Given the description of an element on the screen output the (x, y) to click on. 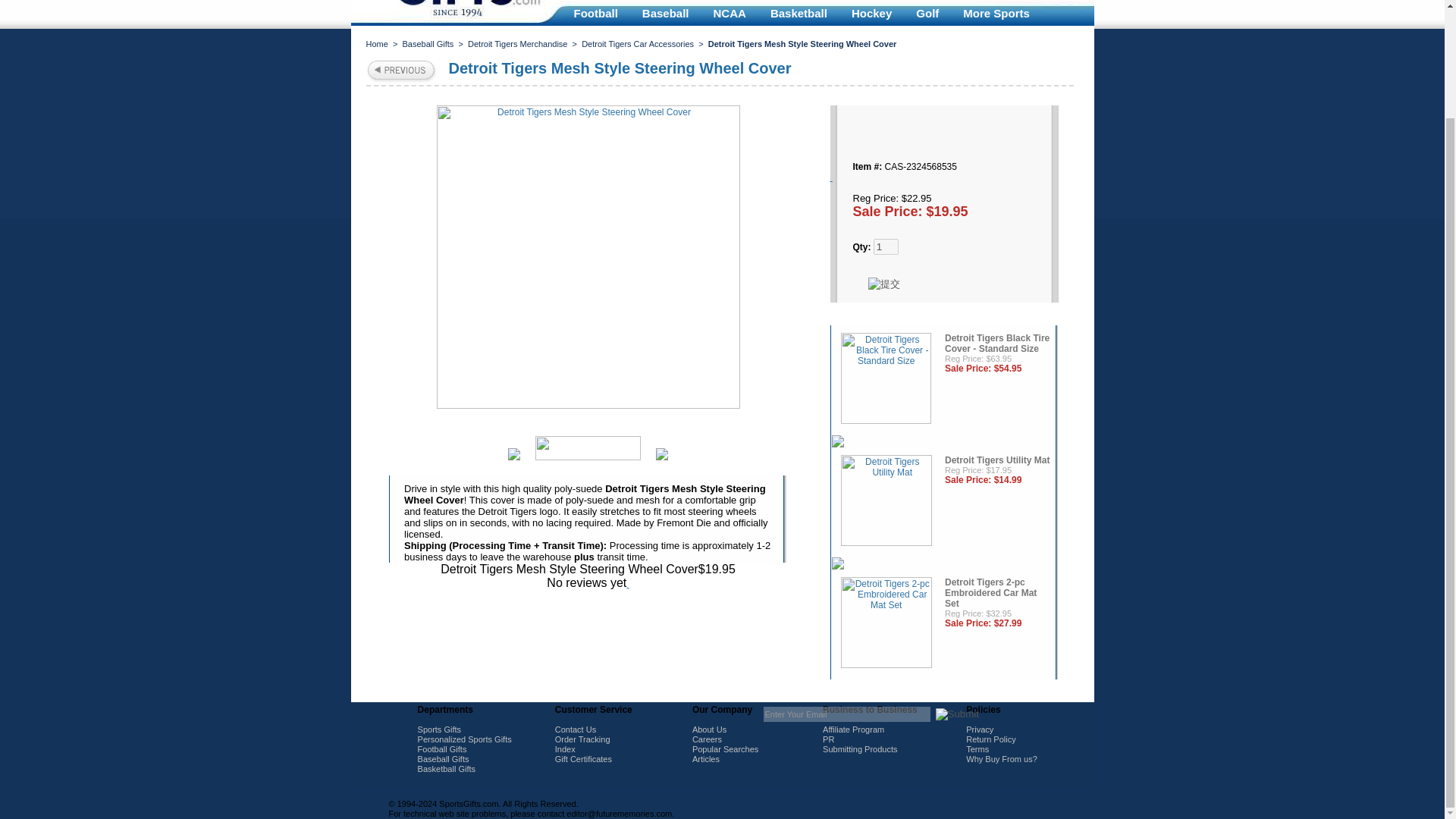
Football (594, 12)
More Sports (996, 12)
Basketball (799, 12)
Hockey (872, 12)
NCAA (729, 12)
Detroit Tigers 2-pc Embroidered Car Mat Set (886, 624)
Detroit Tigers Utility Mat (886, 502)
Detroit Tigers Black Tire Cover - Standard Size (886, 379)
Submit (957, 714)
1 (885, 246)
